Given the description of an element on the screen output the (x, y) to click on. 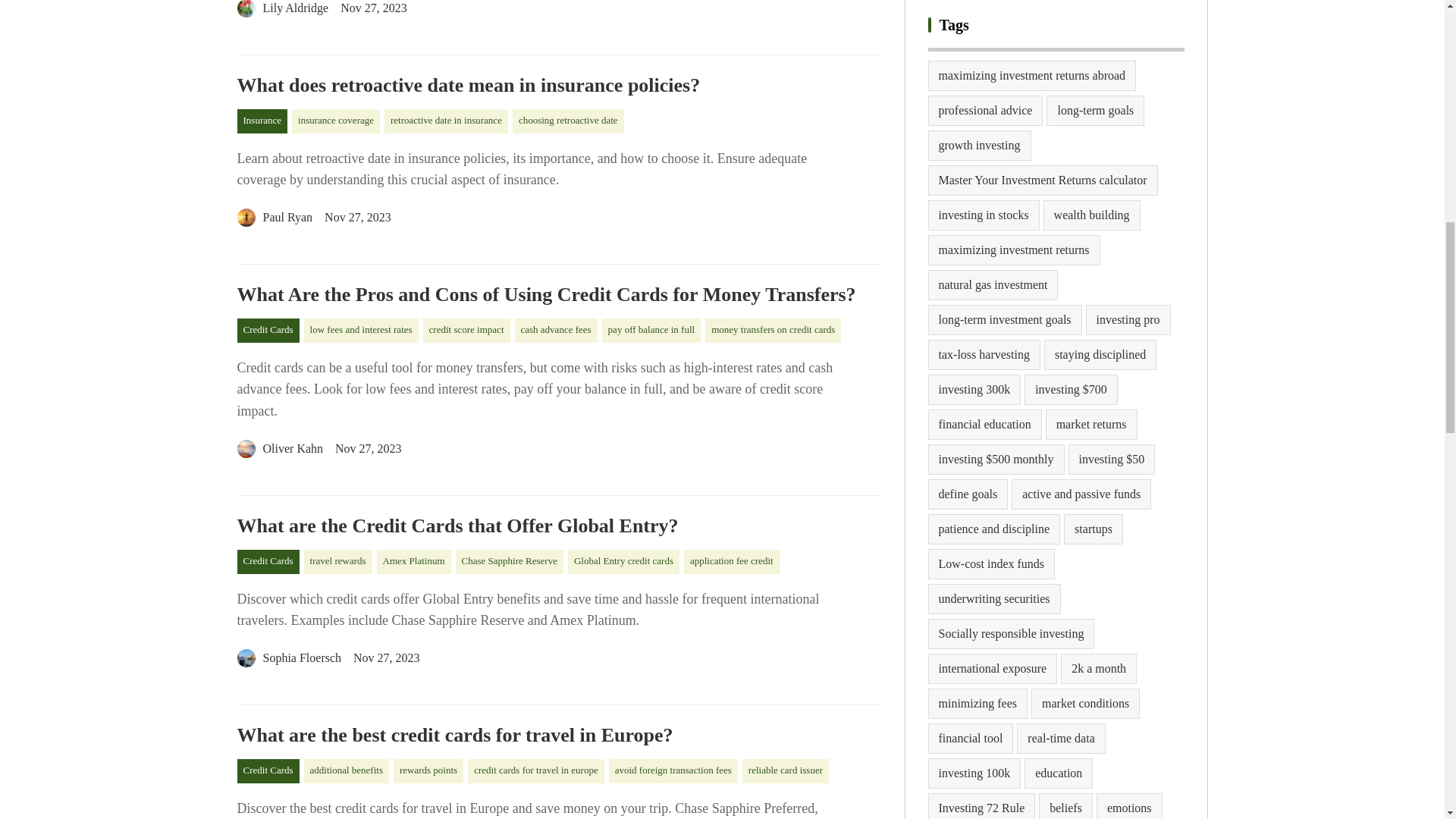
Insurance (260, 120)
What does retroactive date mean in insurance policies? (557, 85)
insurance coverage (336, 120)
retroactive date in insurance (446, 120)
Lily Aldridge (282, 11)
